Given the description of an element on the screen output the (x, y) to click on. 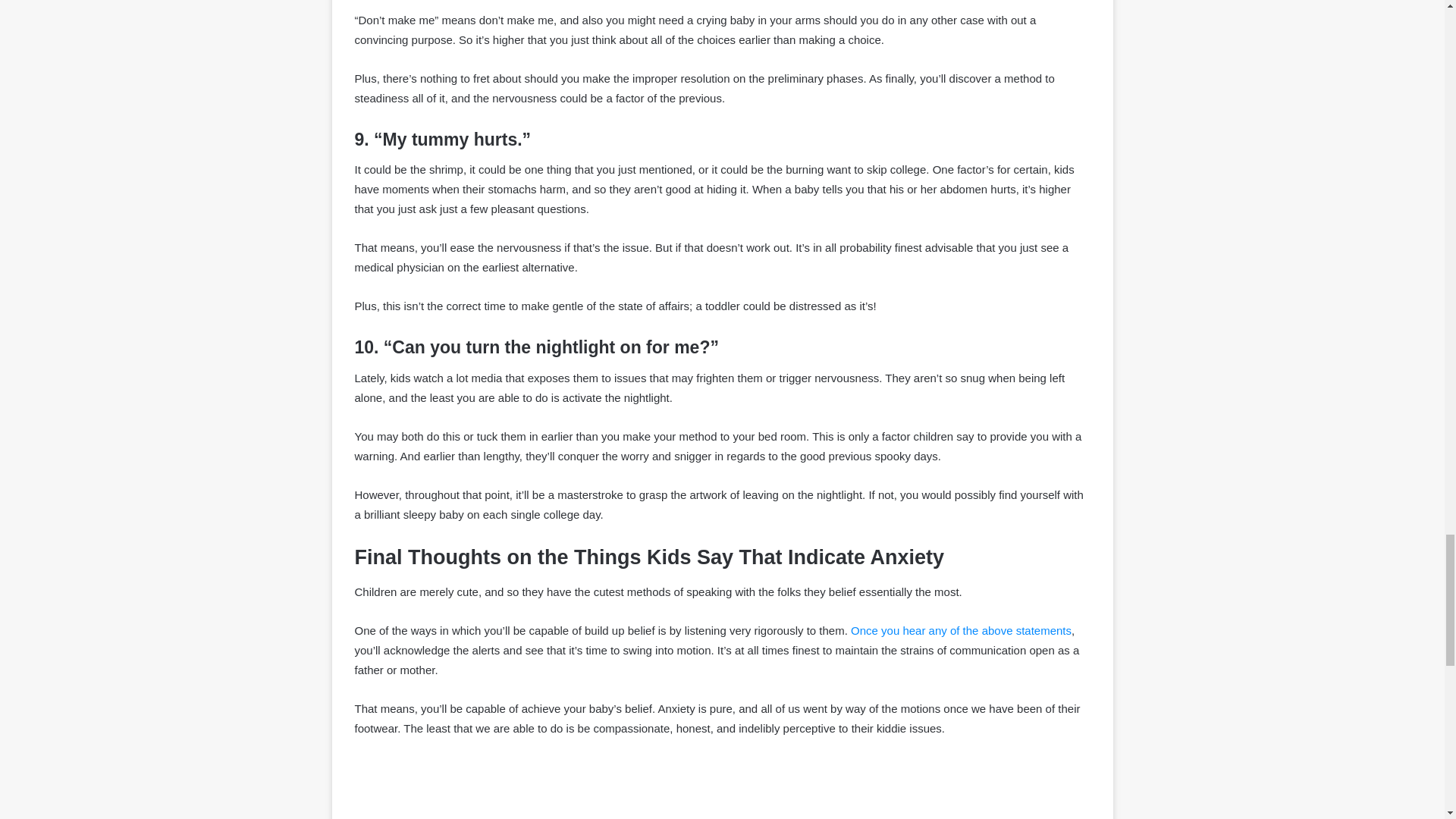
Once you hear any of the above statements (960, 630)
